Given the description of an element on the screen output the (x, y) to click on. 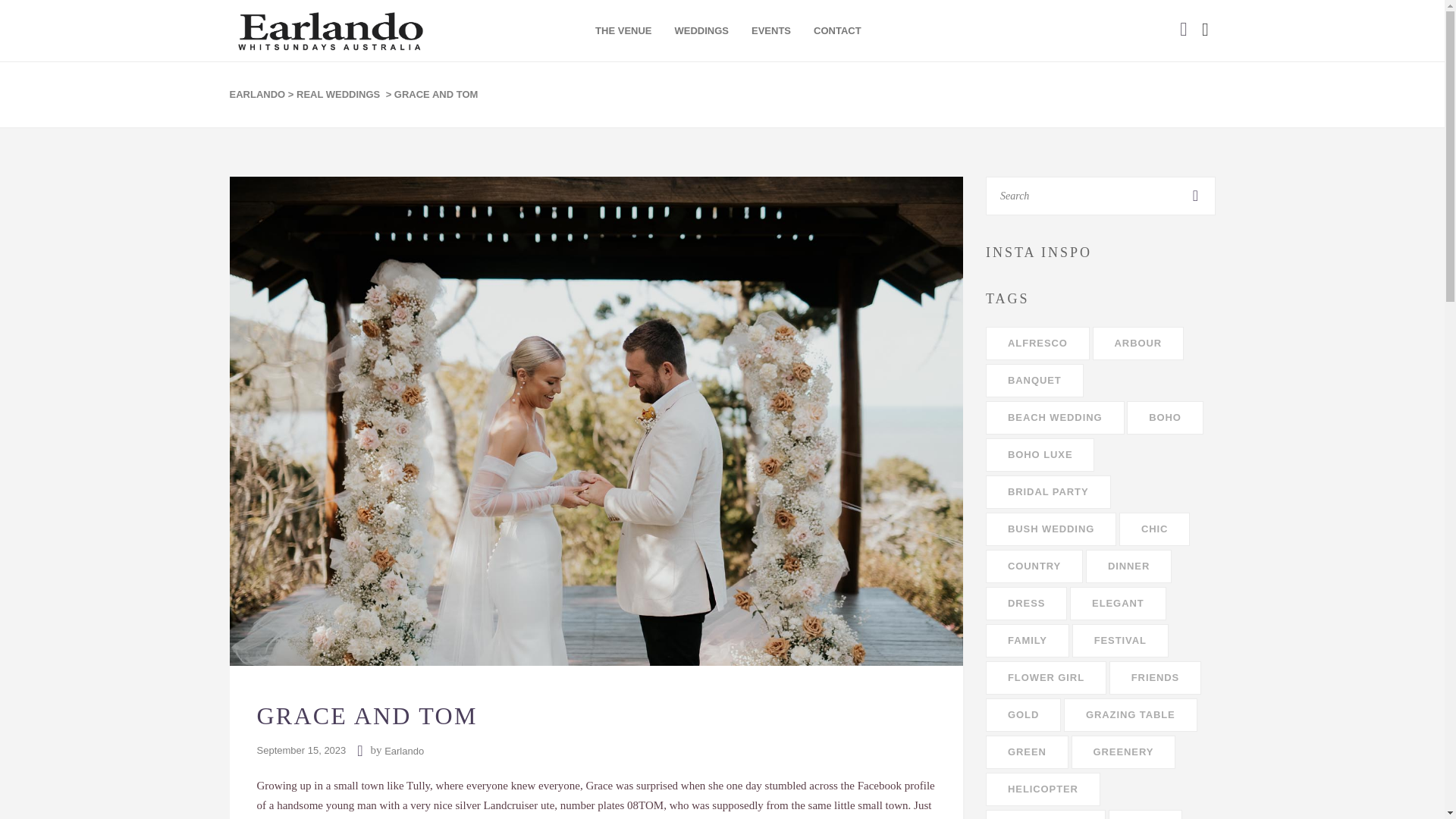
EVENTS (770, 30)
COUNTRY (1034, 566)
BOHO (1165, 417)
EARLANDO (256, 94)
BOHO LUXE (1039, 454)
ALFRESCO (1037, 343)
ARBOUR (1139, 343)
REAL WEDDINGS (338, 94)
CHIC (1154, 529)
WEDDINGS (702, 30)
